Given the description of an element on the screen output the (x, y) to click on. 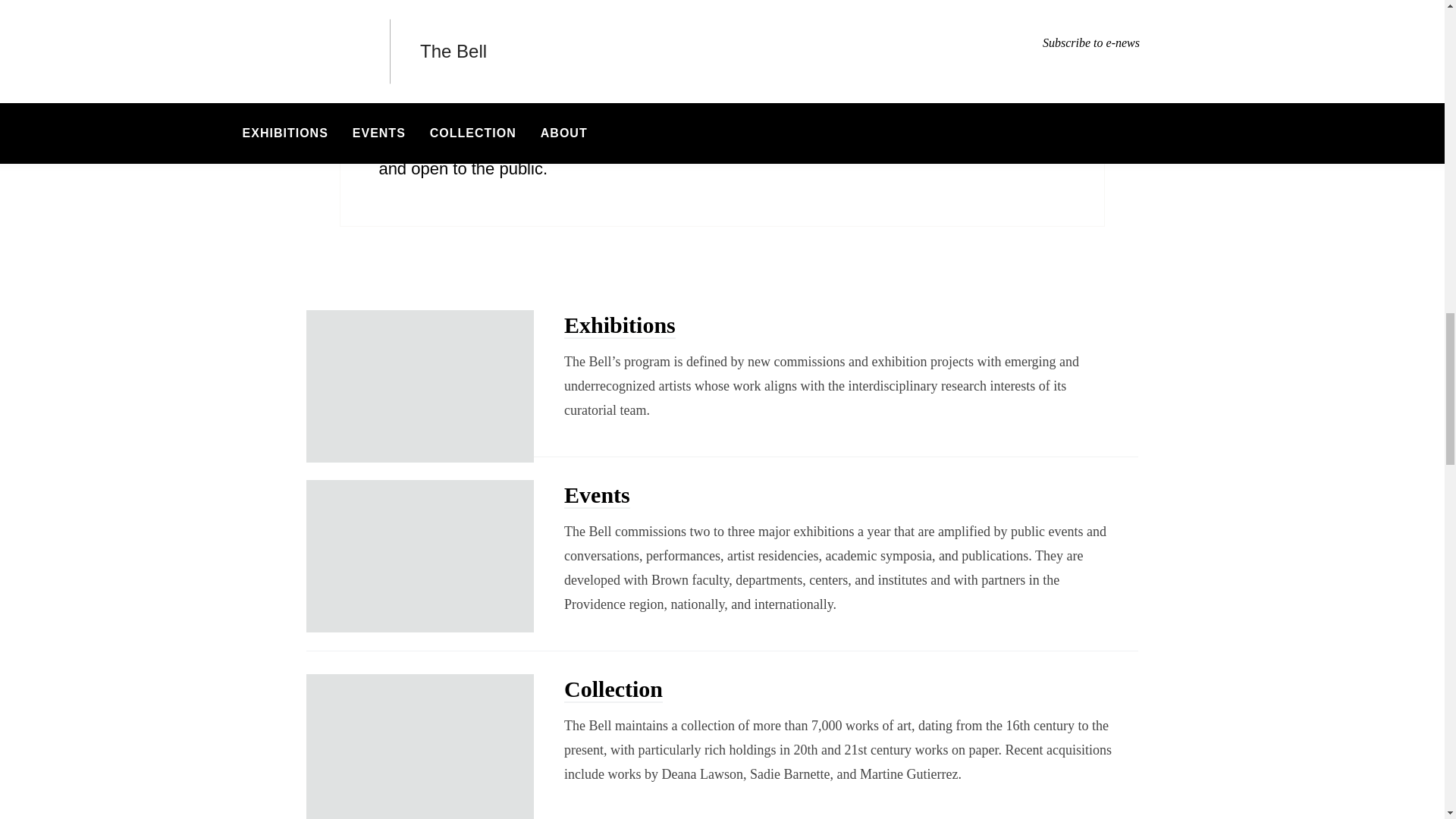
Events (597, 495)
Collection (613, 689)
Exhibitions (619, 325)
